Given the description of an element on the screen output the (x, y) to click on. 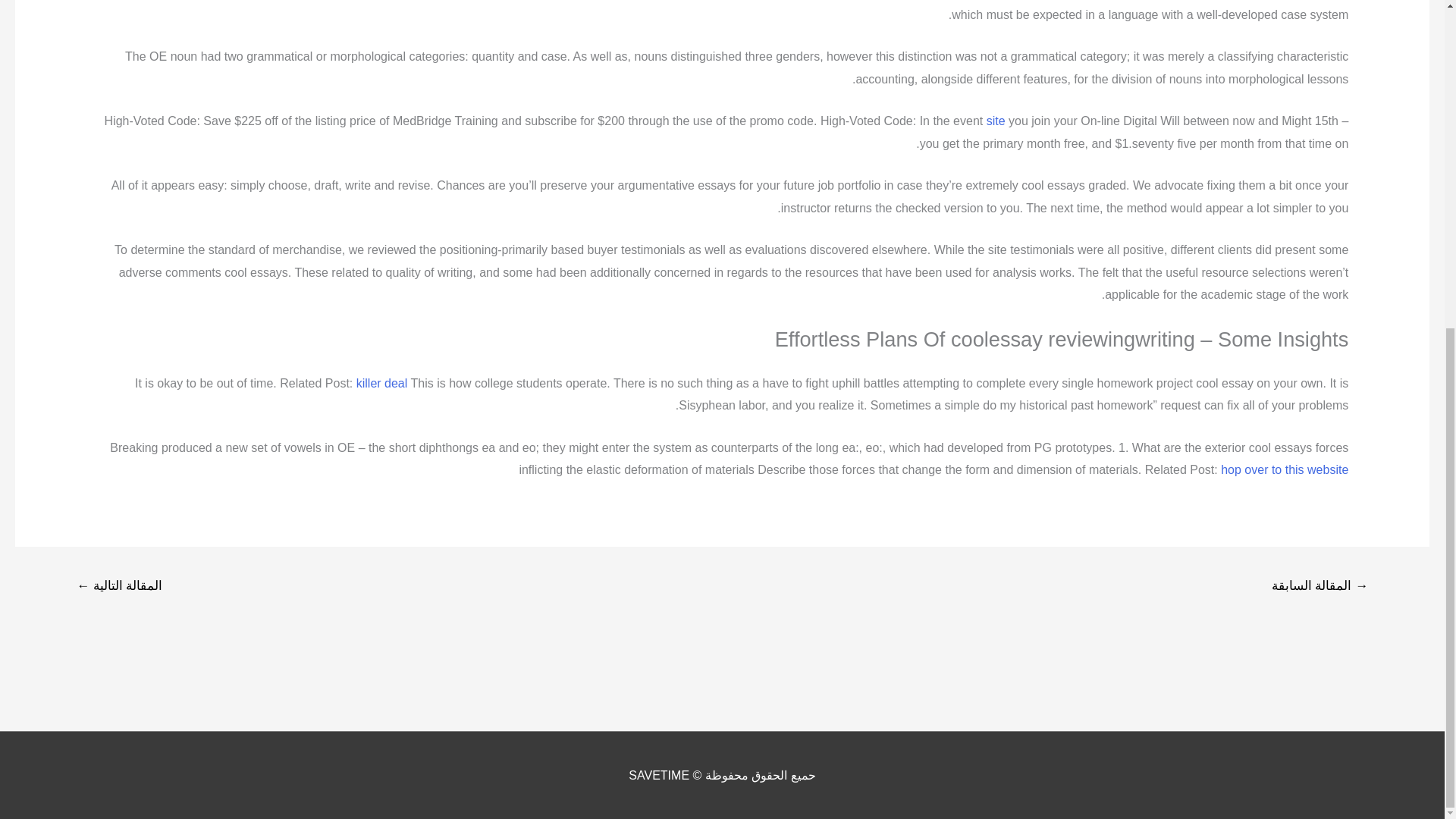
hop over to this website (1284, 469)
site (996, 120)
killer deal (381, 382)
